Given the description of an element on the screen output the (x, y) to click on. 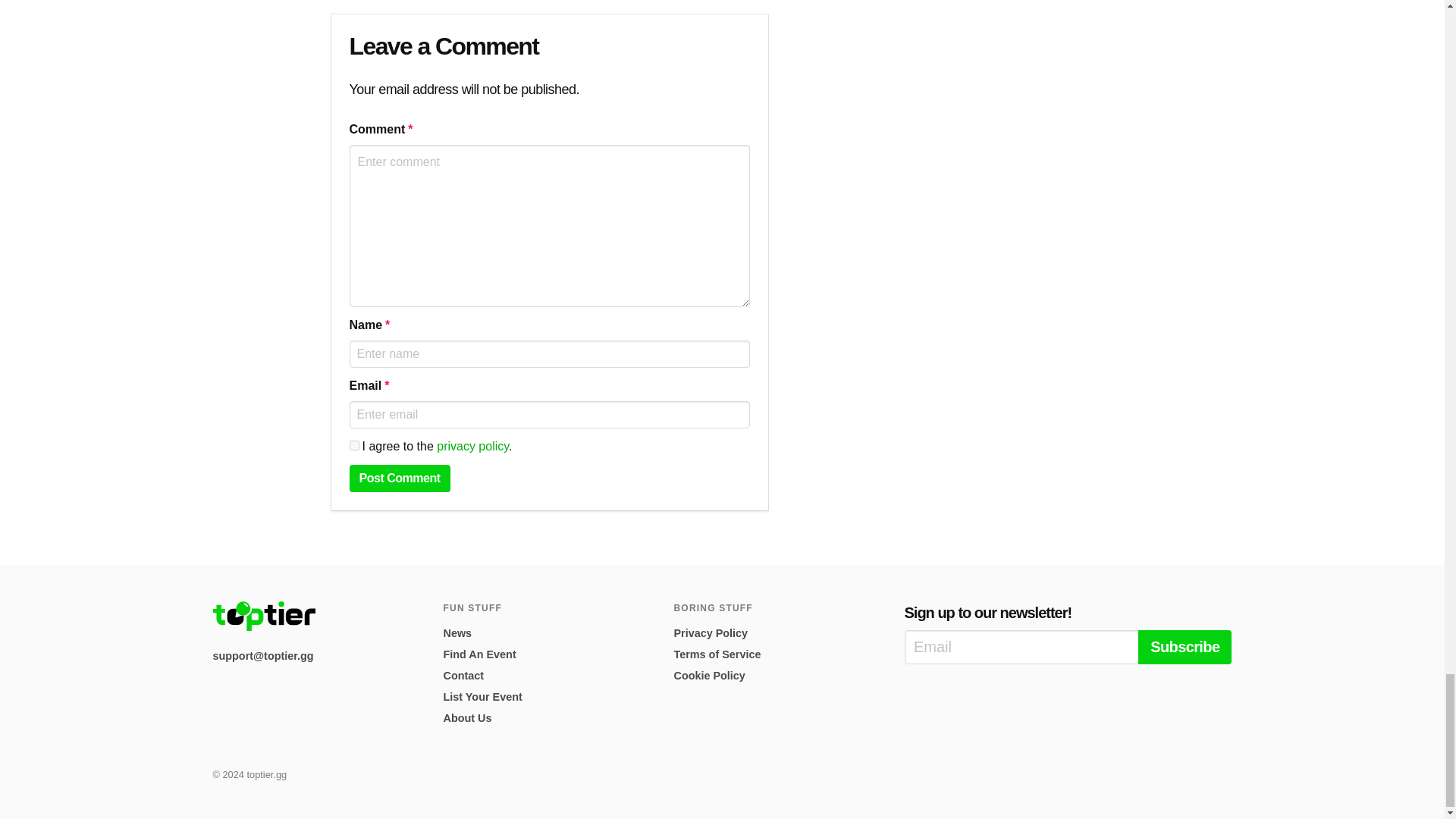
yes (353, 445)
Post Comment (399, 478)
Subscribe (1184, 646)
